Given the description of an element on the screen output the (x, y) to click on. 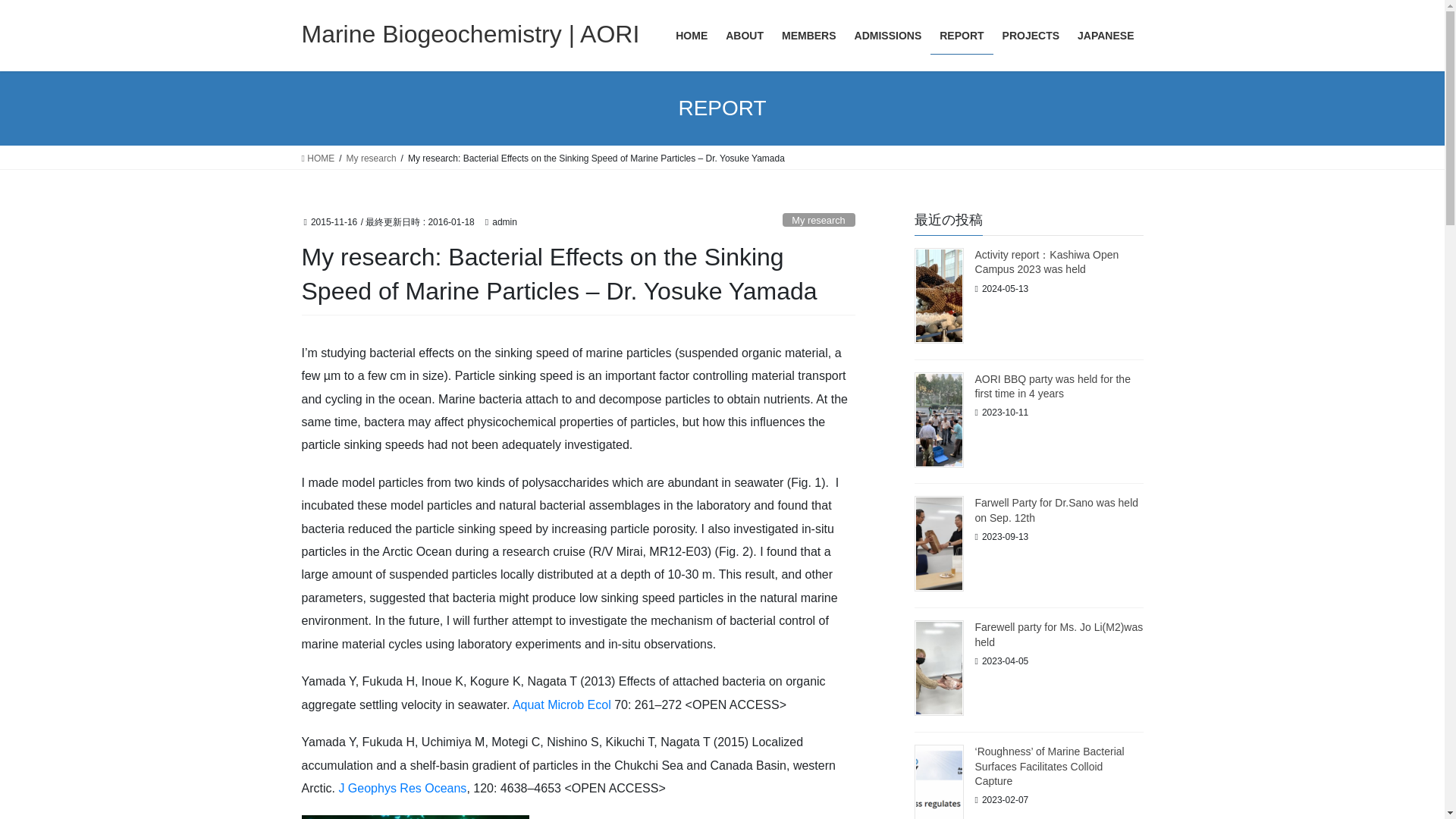
REPORT (961, 36)
AORI BBQ party was held for the first time in 4 years (1053, 386)
PROJECTS (1030, 36)
HOME (691, 36)
Aquat Microb Ecol (563, 704)
JAPANESE (1105, 36)
Farwell Party for Dr.Sano was held on Sep. 12th (1056, 510)
ADMISSIONS (888, 36)
MEMBERS (809, 36)
ABOUT (744, 36)
J Geophys Res Oceans (399, 788)
My research (371, 157)
My research (819, 219)
HOME (317, 157)
